Given the description of an element on the screen output the (x, y) to click on. 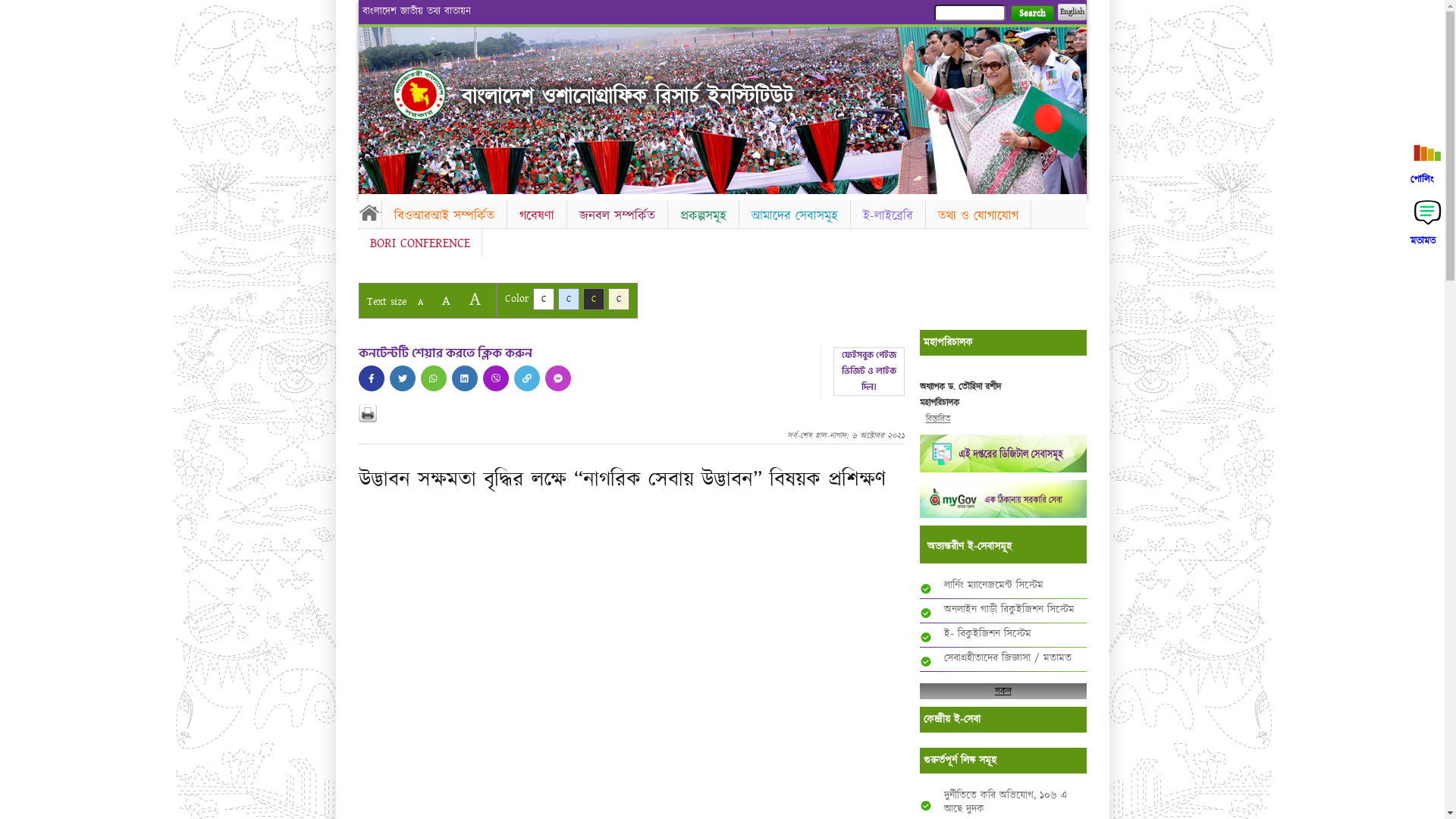
A Element type: text (474, 298)
A Element type: text (419, 301)
Search Element type: text (1031, 13)
C Element type: text (542, 299)
English Element type: text (1071, 11)
C Element type: text (618, 299)
C Element type: text (592, 299)
C Element type: text (568, 299)
Home Element type: hover (418, 93)
BORI CONFERENCE Element type: text (418, 243)
A Element type: text (445, 300)
Home Element type: hover (368, 211)
